Given the description of an element on the screen output the (x, y) to click on. 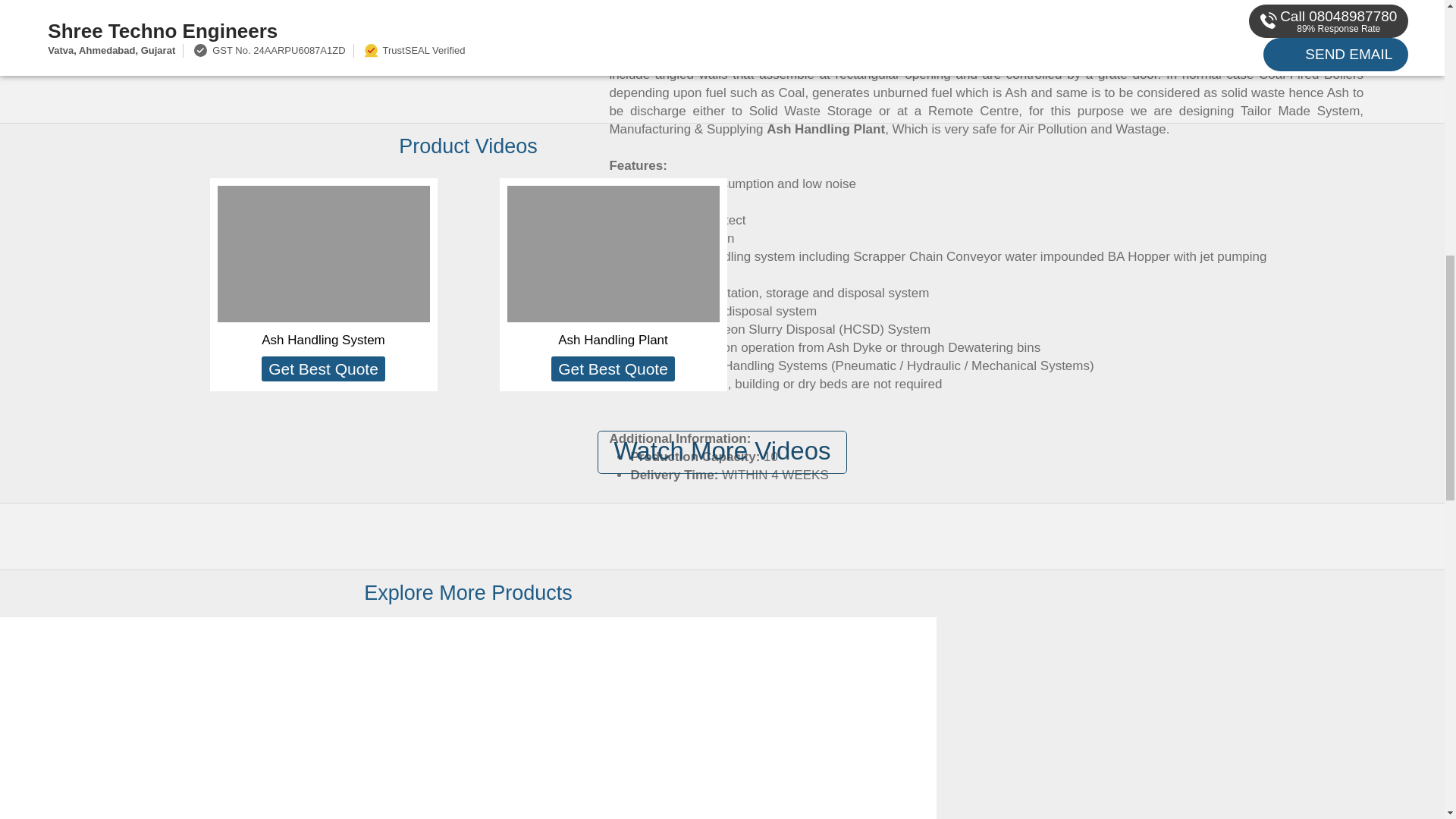
Ash Handling System (323, 339)
